Given the description of an element on the screen output the (x, y) to click on. 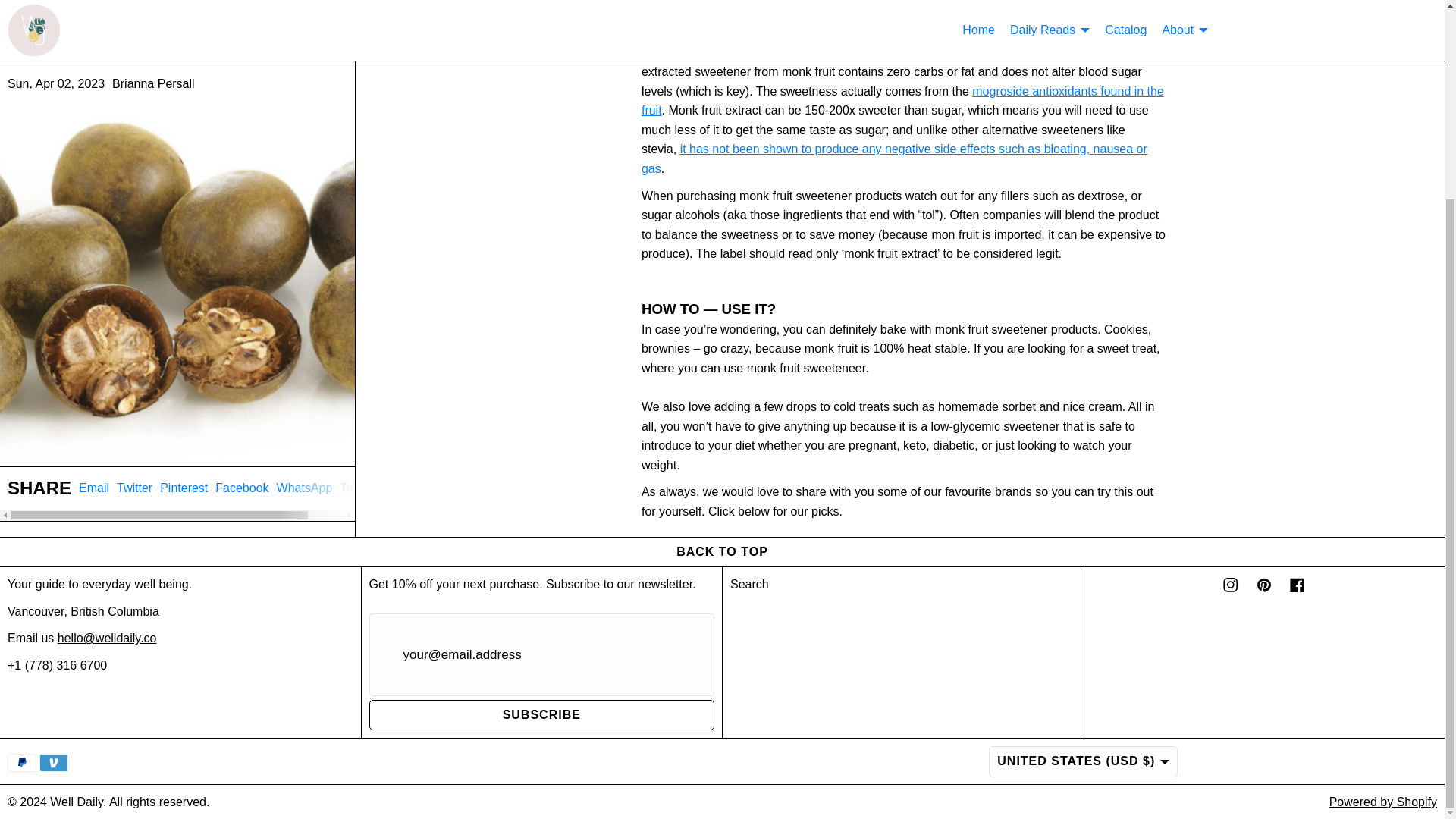
nausea or gas (894, 158)
PayPal (21, 762)
mogroside antioxidants found in the fruit (902, 101)
Twitter (177, 445)
Telegram (134, 439)
Venmo (364, 439)
Pinterest (53, 762)
WhatsApp (184, 439)
Email (304, 439)
Facebook (93, 439)
ng, (241, 439)
